Given the description of an element on the screen output the (x, y) to click on. 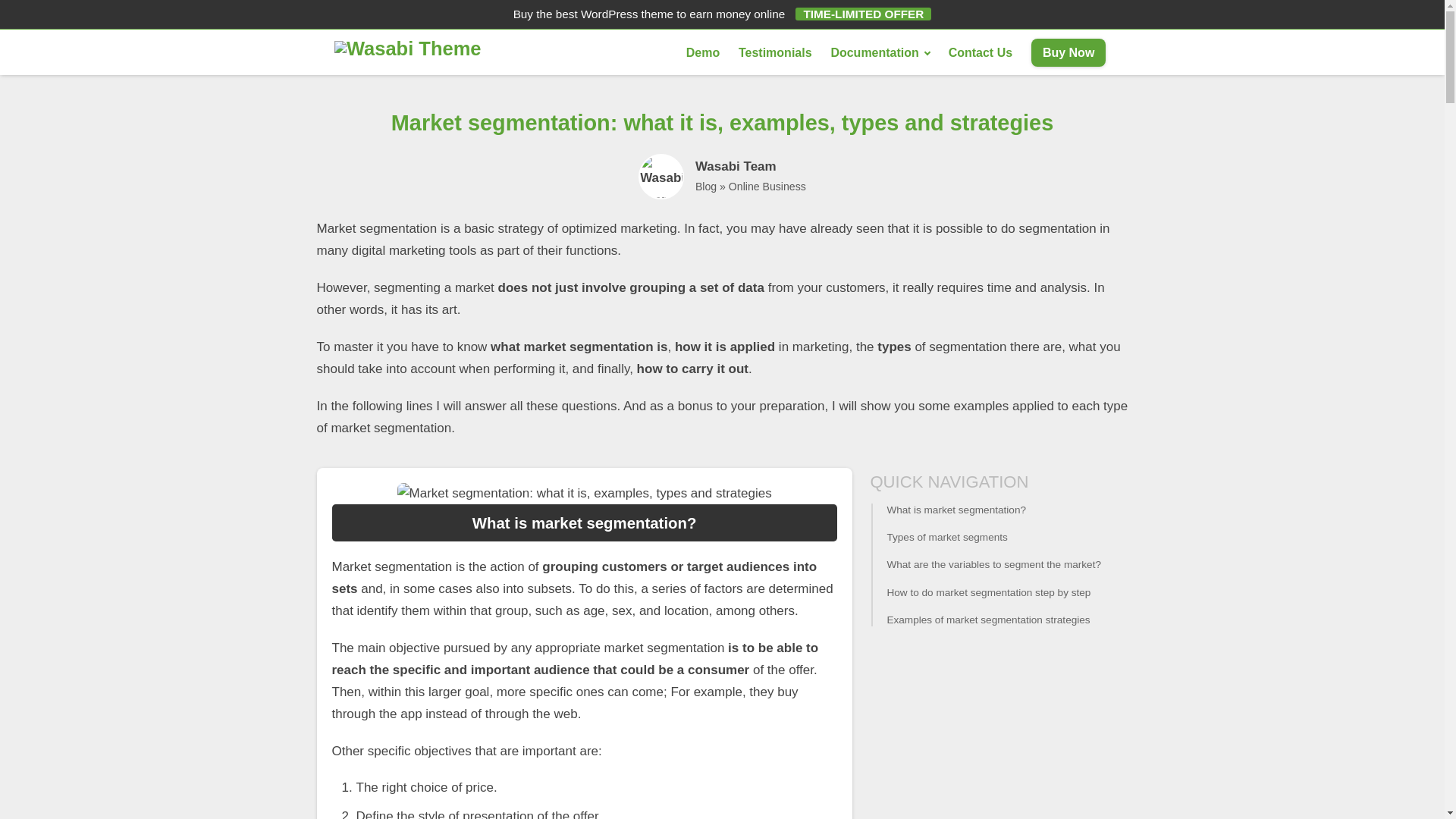
What are the variables to segment the market? (999, 564)
Contact Us (980, 51)
Buy Now (1067, 51)
Demo (702, 51)
Online Business (767, 186)
Blog (705, 186)
Examples of market segmentation strategies (999, 620)
What is market segmentation? (999, 509)
Documentation (878, 51)
Types of market segments (999, 537)
How to do market segmentation step by step (999, 592)
Testimonials (775, 51)
